Given the description of an element on the screen output the (x, y) to click on. 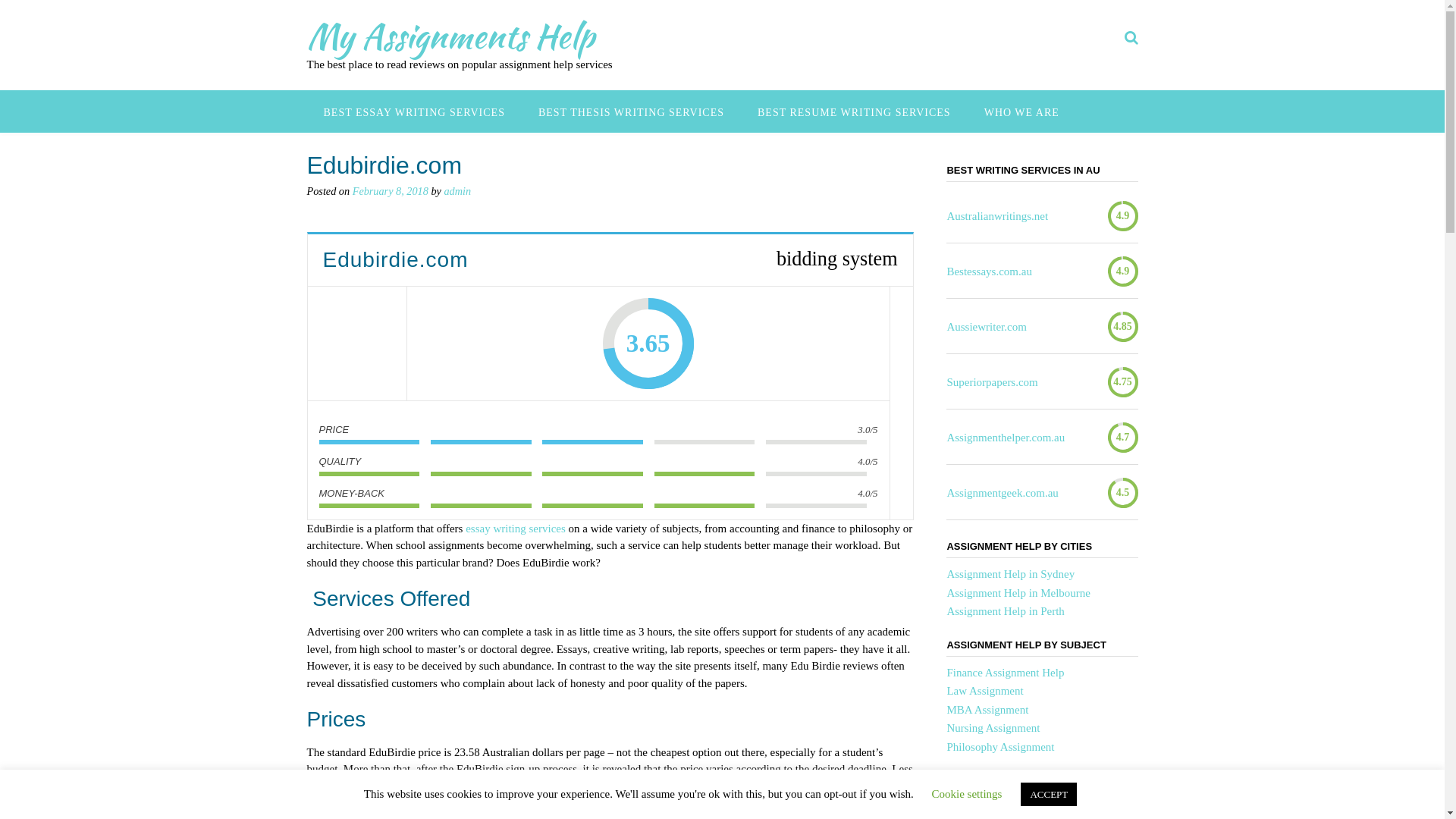
WHO WE ARE Element type: text (1021, 111)
My Assignments Help Element type: text (449, 35)
Australianwritings.net Element type: text (997, 216)
Assignment Help in Sydney Element type: text (1010, 573)
BEST THESIS WRITING SERVICES Element type: text (630, 111)
Law Assignment Element type: text (984, 690)
Assignmenthelper.com.au Element type: text (1005, 437)
Philosophy Assignment Element type: text (1000, 746)
Aussiewriter.com Element type: text (986, 326)
essay writing services Element type: text (515, 528)
MBA Assignment Element type: text (987, 709)
Compare and Contrast Essay Sample Element type: text (1030, 807)
Nursing Assignment Element type: text (992, 727)
admin Element type: text (456, 191)
Assignment Help in Perth Element type: text (1004, 611)
Assignmentgeek.com.au Element type: text (1001, 493)
BEST ESSAY WRITING SERVICES Element type: text (413, 111)
Superiorpapers.com Element type: text (991, 382)
BEST RESUME WRITING SERVICES Element type: text (853, 111)
February 8, 2018 Element type: text (390, 191)
Assignment Help in Melbourne Element type: text (1018, 592)
Finance Assignment Help Element type: text (1004, 671)
Cookie settings Element type: text (966, 793)
Bestessays.com.au Element type: text (988, 271)
ACCEPT Element type: text (1048, 794)
